Given the description of an element on the screen output the (x, y) to click on. 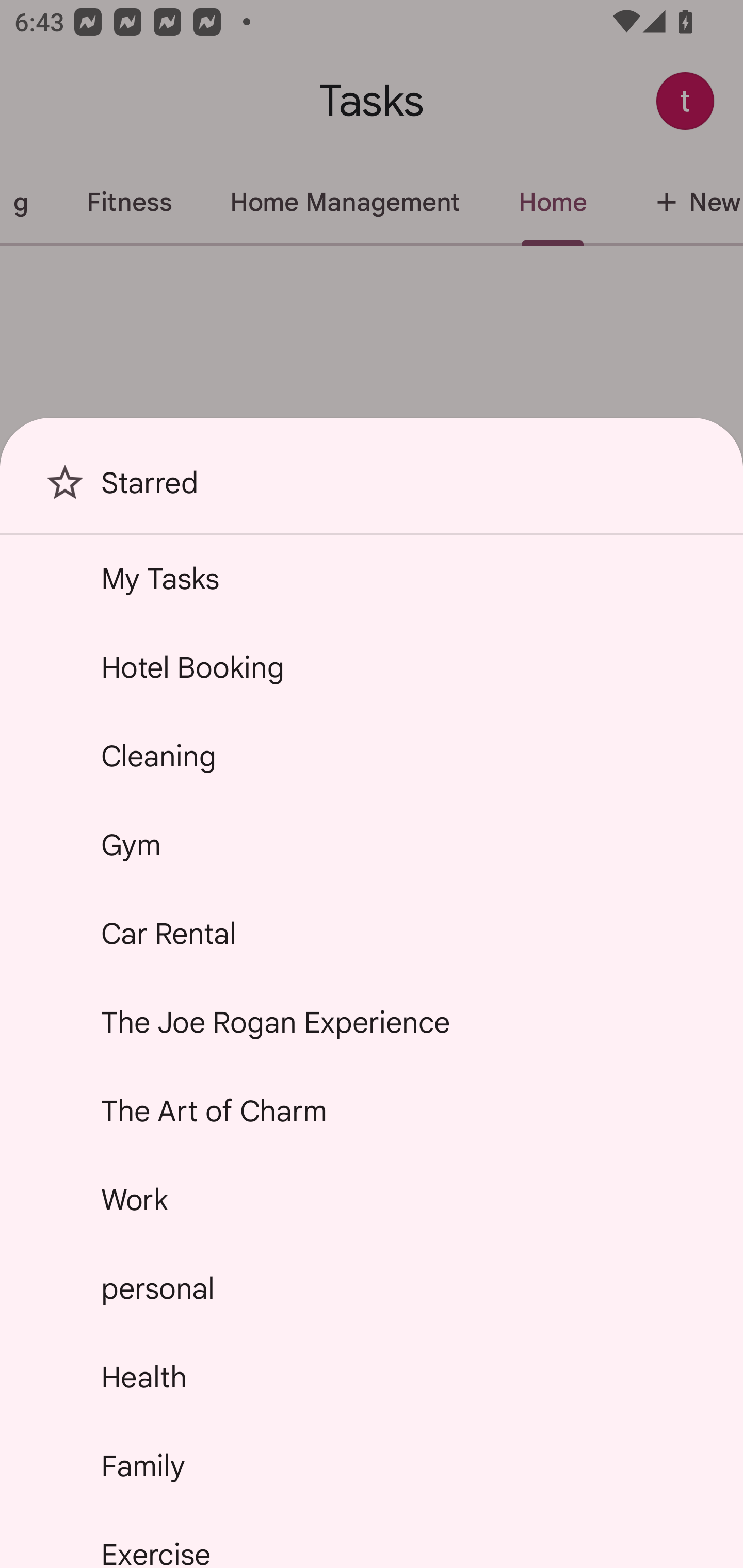
Starred (371, 489)
My Tasks (371, 578)
Hotel Booking (371, 667)
Cleaning (371, 756)
Gym (371, 844)
Car Rental (371, 933)
The Joe Rogan Experience (371, 1022)
The Art of Charm (371, 1110)
Work (371, 1200)
personal (371, 1287)
Health (371, 1377)
Family (371, 1465)
Exercise (371, 1539)
